Given the description of an element on the screen output the (x, y) to click on. 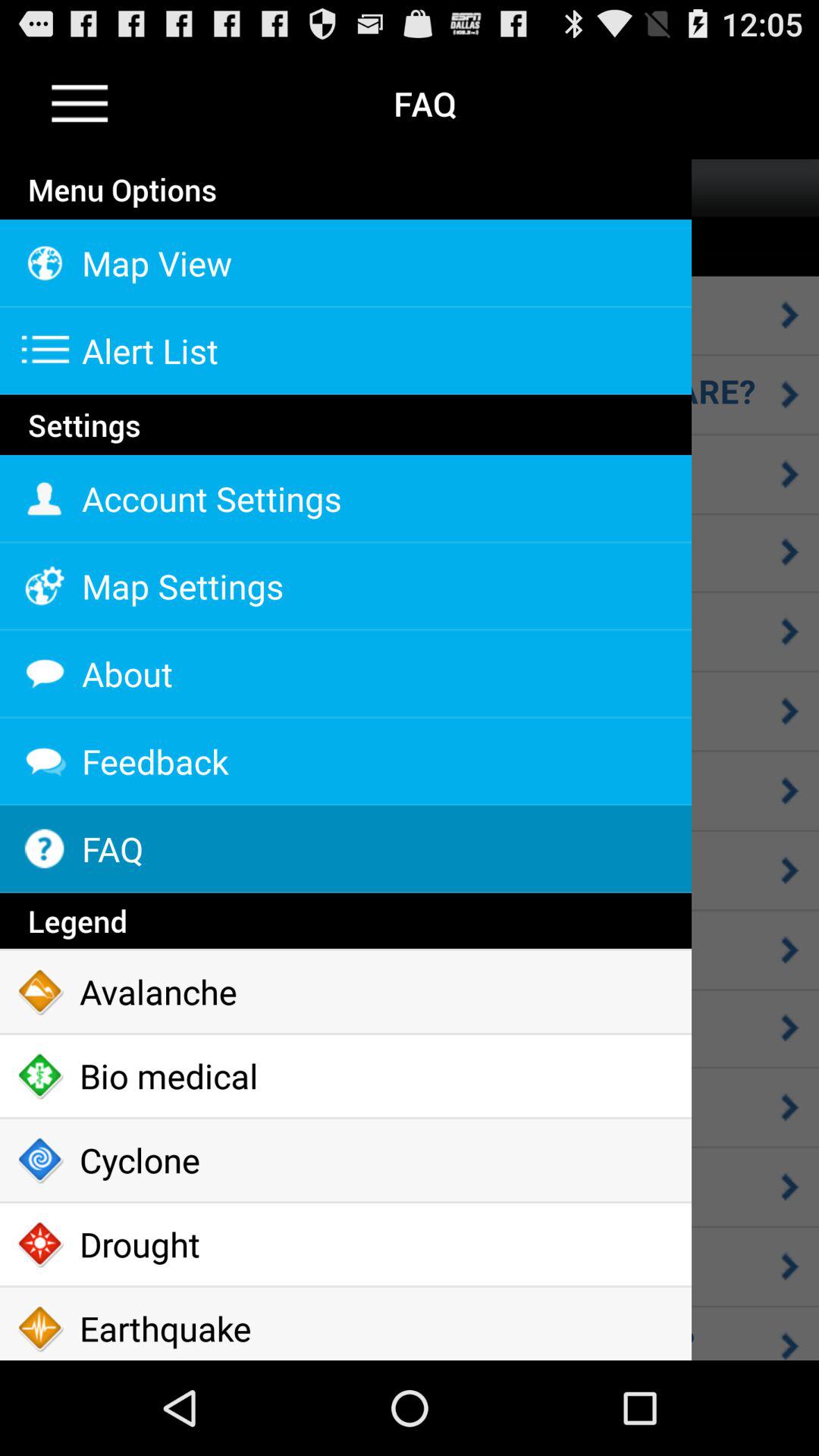
press the item above map settings (345, 498)
